Given the description of an element on the screen output the (x, y) to click on. 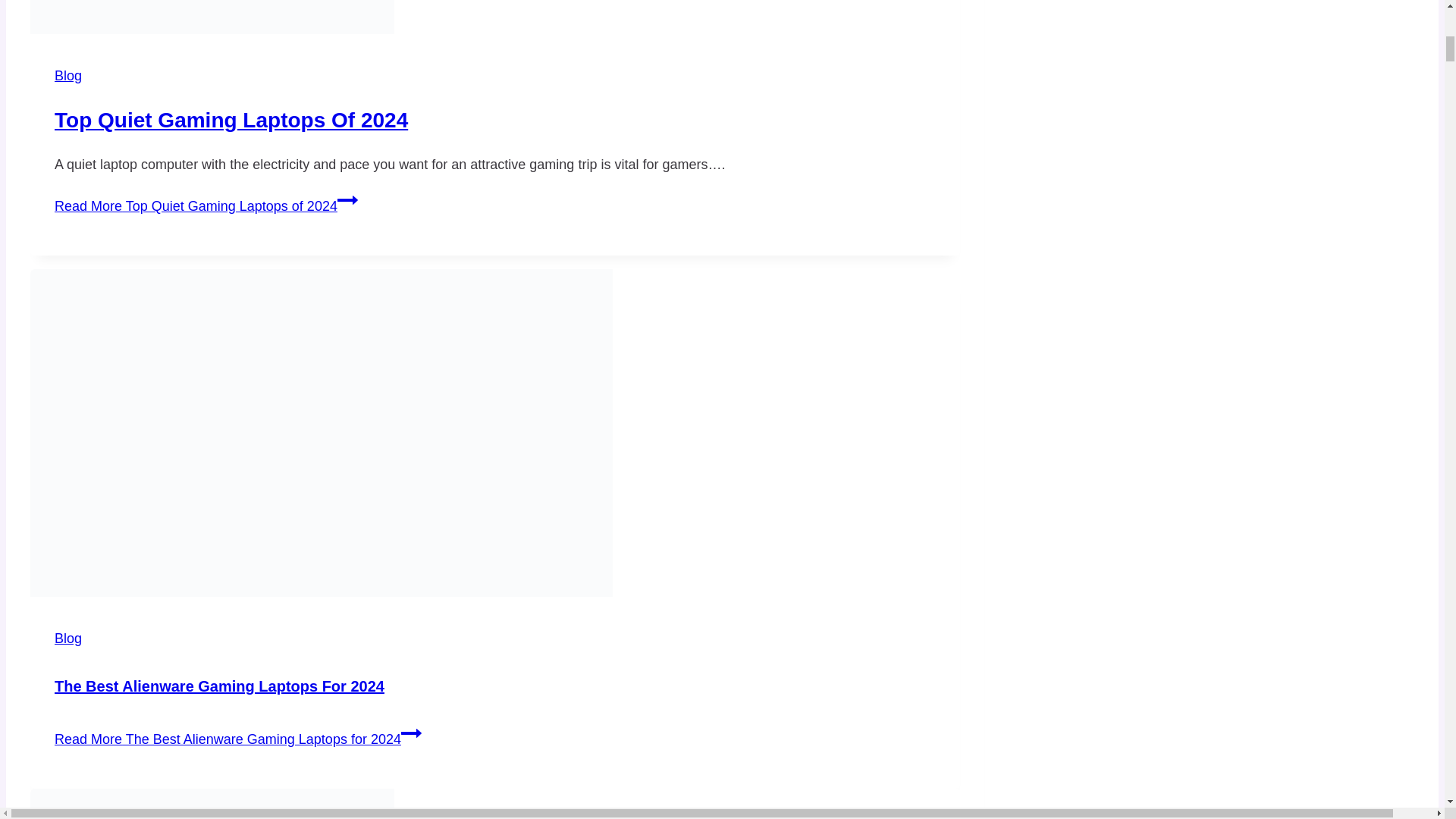
Blog (68, 638)
Read More The Best Alienware Gaming Laptops for 2024 (238, 739)
Blog (68, 75)
The Best Alienware Gaming Laptops For 2024 (219, 686)
Top Quiet Gaming Laptops Of 2024 (231, 119)
Read More Top Quiet Gaming Laptops of 2024 (206, 206)
